Given the description of an element on the screen output the (x, y) to click on. 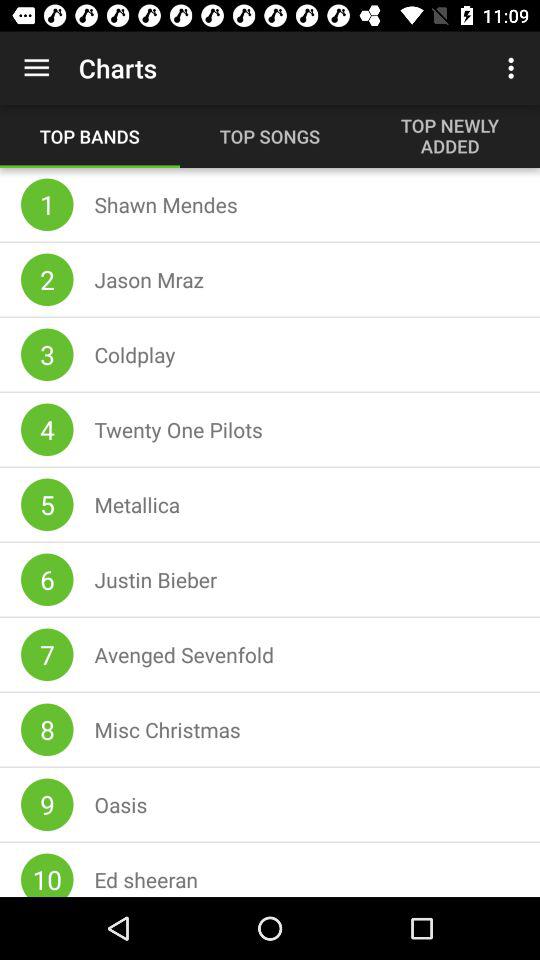
select the jason mraz (149, 279)
